Given the description of an element on the screen output the (x, y) to click on. 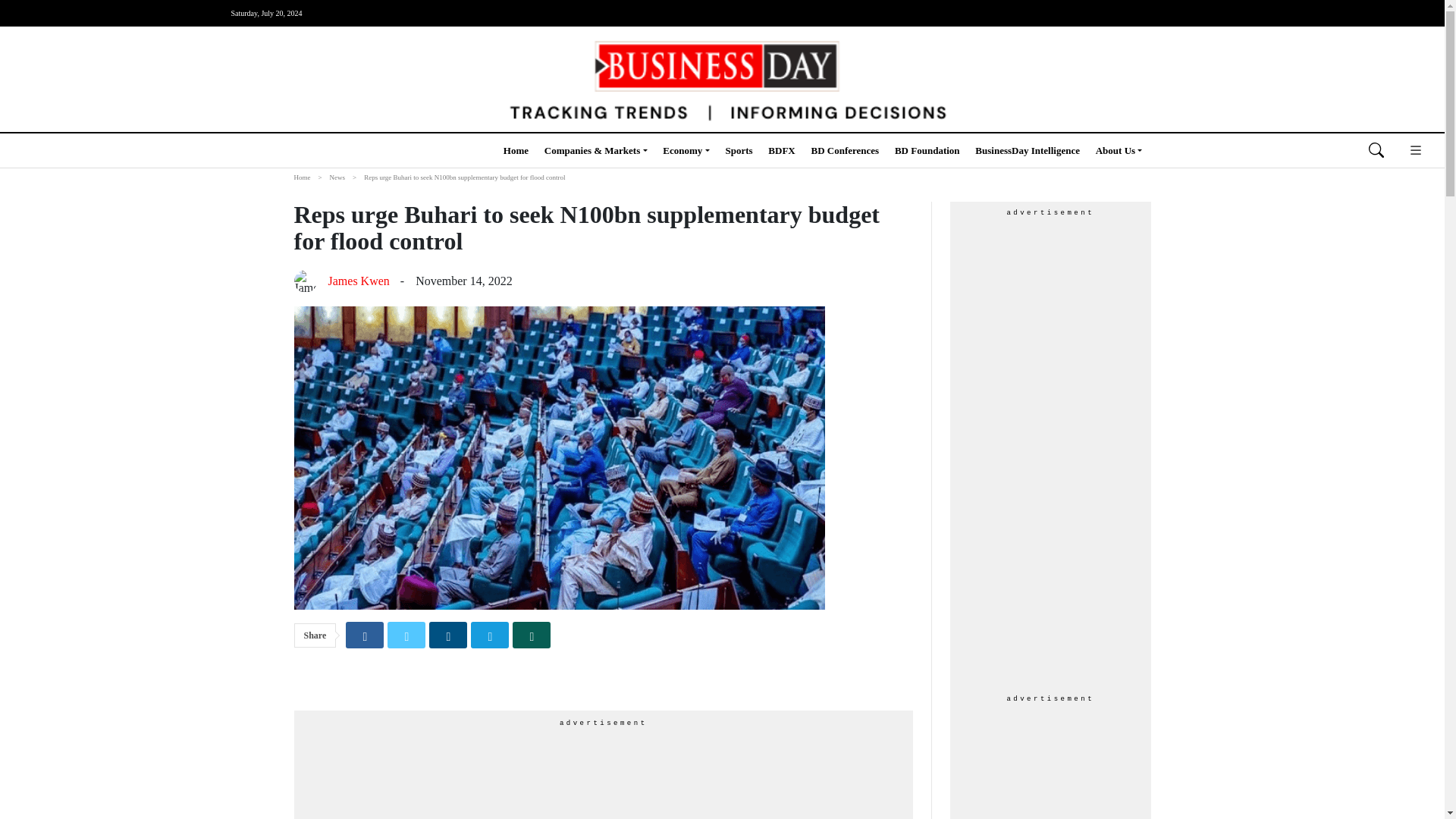
BusinessDay Intelligence (1027, 149)
Economy (685, 149)
BD Conferences (844, 149)
BD Foundation (927, 149)
BD Conferences (844, 149)
Economy (685, 149)
BD Foundation (927, 149)
About Us (1119, 149)
About Us (1119, 149)
BusinessDay Intelligence (1027, 149)
